Given the description of an element on the screen output the (x, y) to click on. 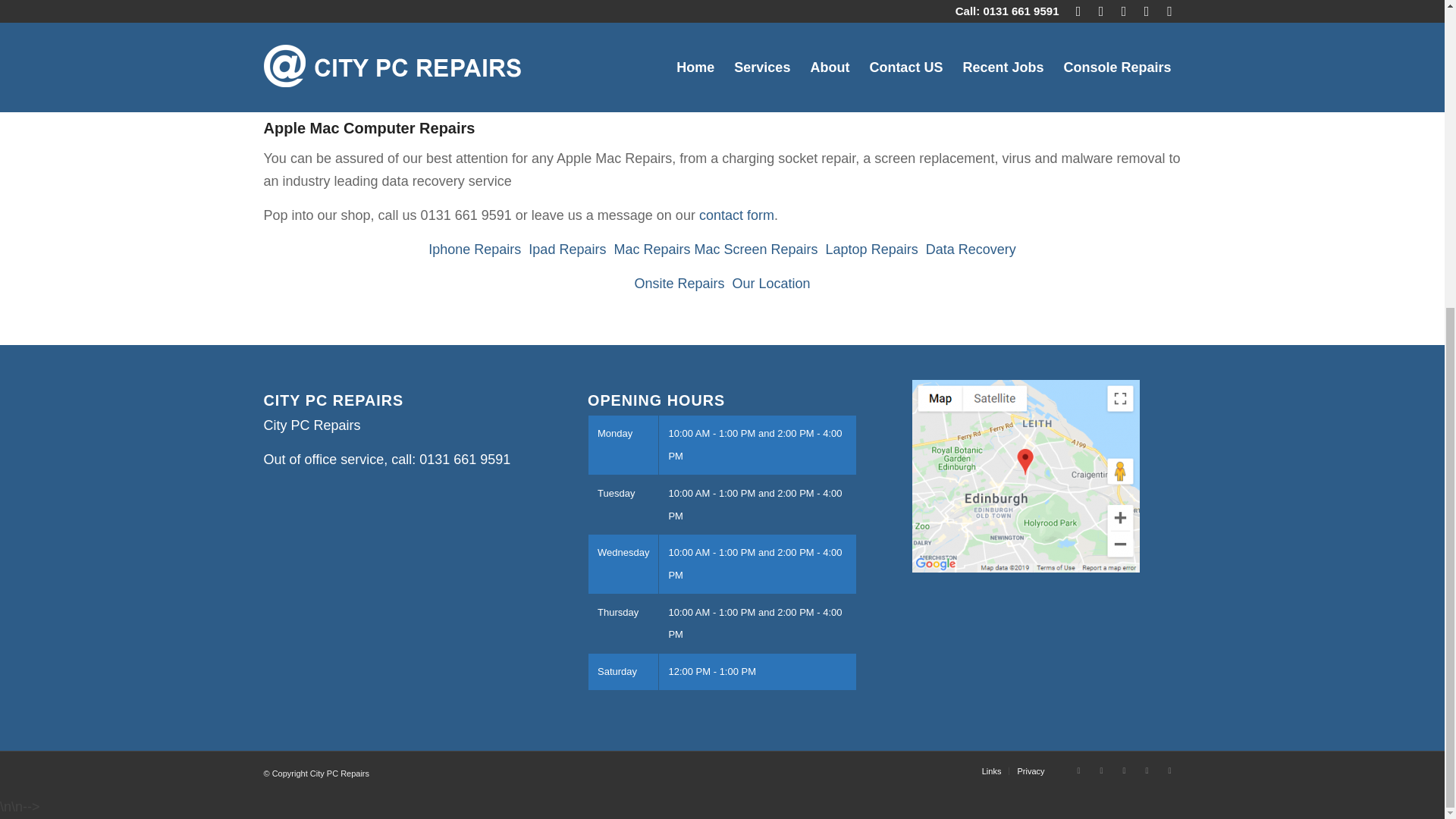
contact form (736, 215)
Iphone Repairs (474, 249)
Mac Screen Repairs (755, 249)
City PC Repairs (312, 28)
Ipad Repairs (566, 249)
Mac Repairs (651, 249)
